Given the description of an element on the screen output the (x, y) to click on. 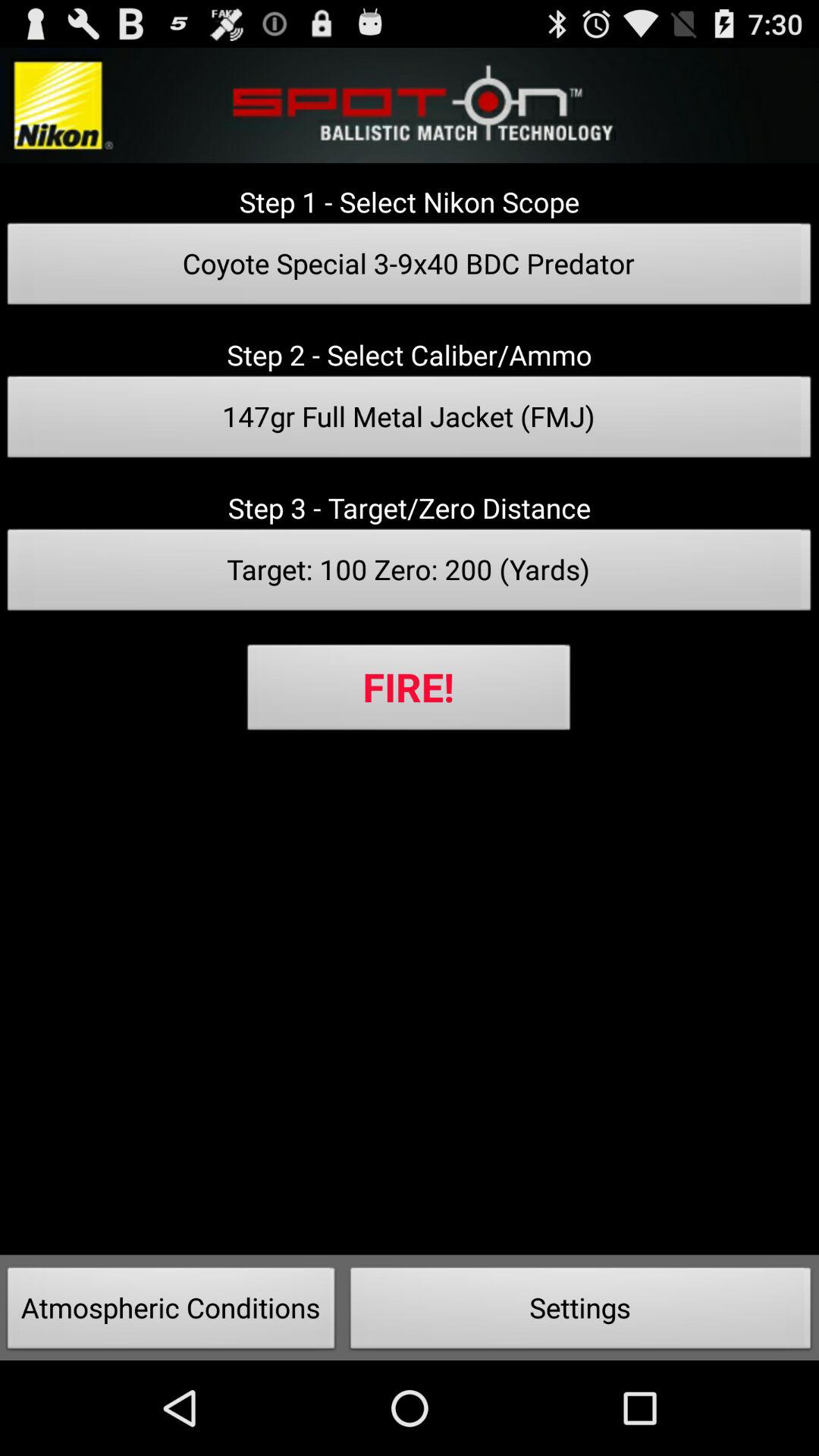
launch target 100 zero (409, 574)
